Given the description of an element on the screen output the (x, y) to click on. 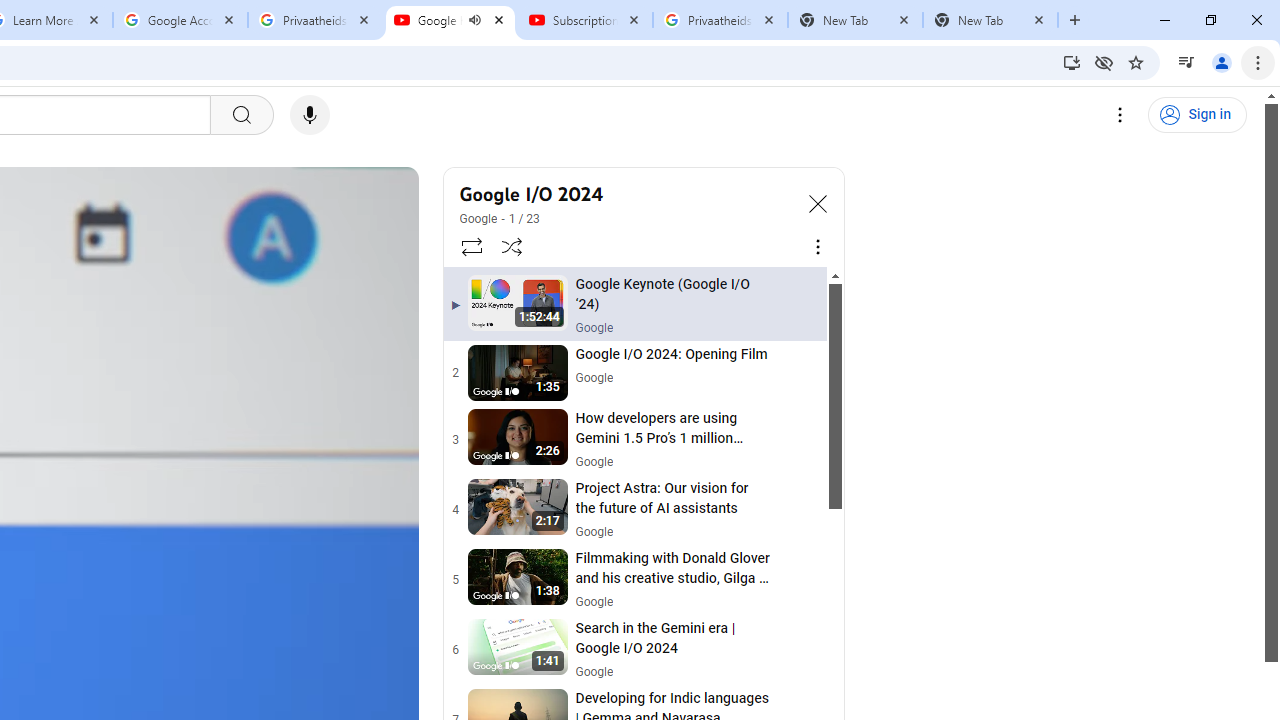
Subscriptions - YouTube (585, 20)
Google (479, 218)
New Tab (990, 20)
Search with your voice (309, 115)
Show cards (388, 187)
Collapse (817, 202)
Google I/O 2024 (625, 194)
Mute tab (474, 20)
